Given the description of an element on the screen output the (x, y) to click on. 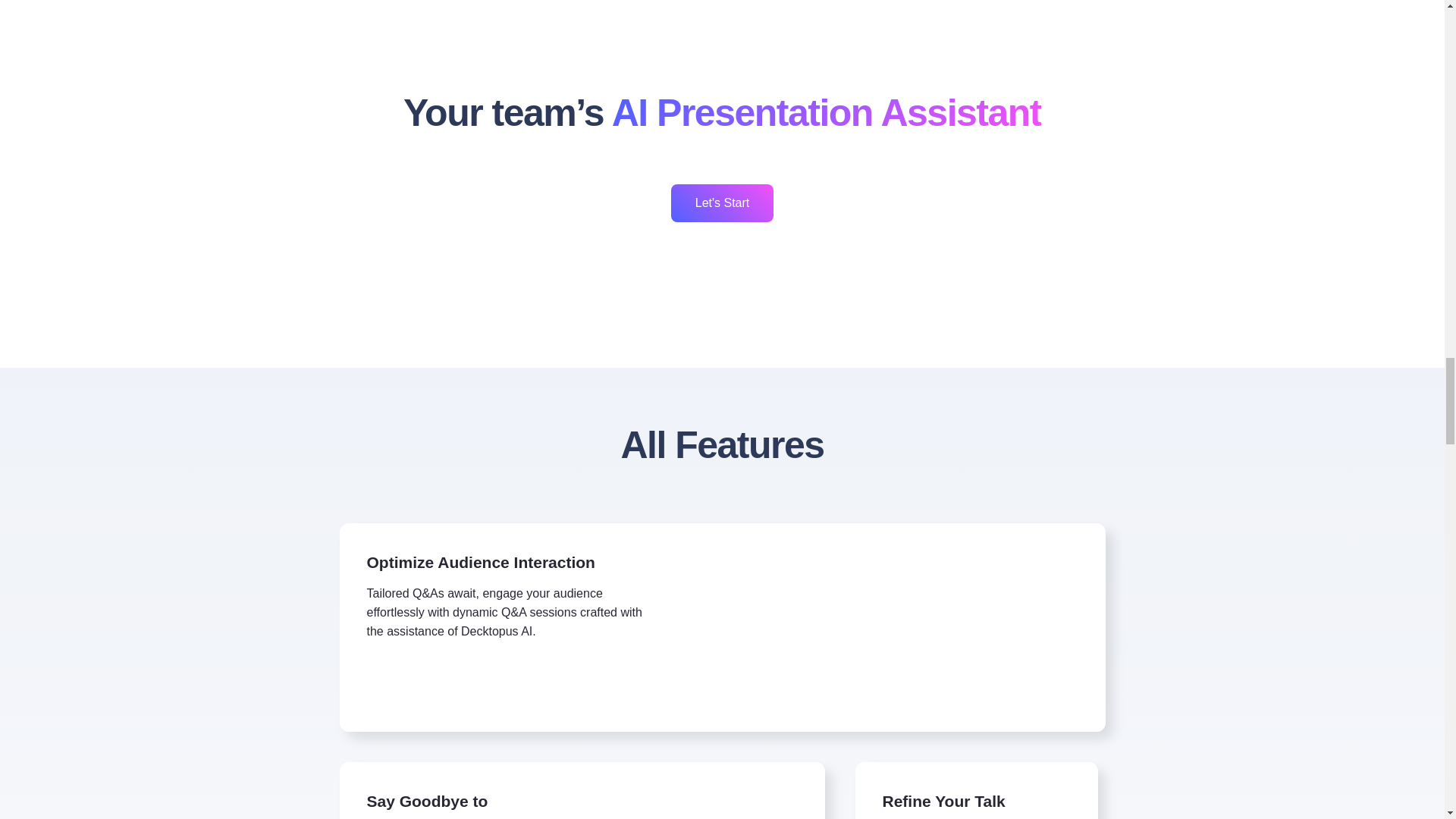
Decktopus AI v2.0: AI presentation assistant for teams (721, 21)
